Given the description of an element on the screen output the (x, y) to click on. 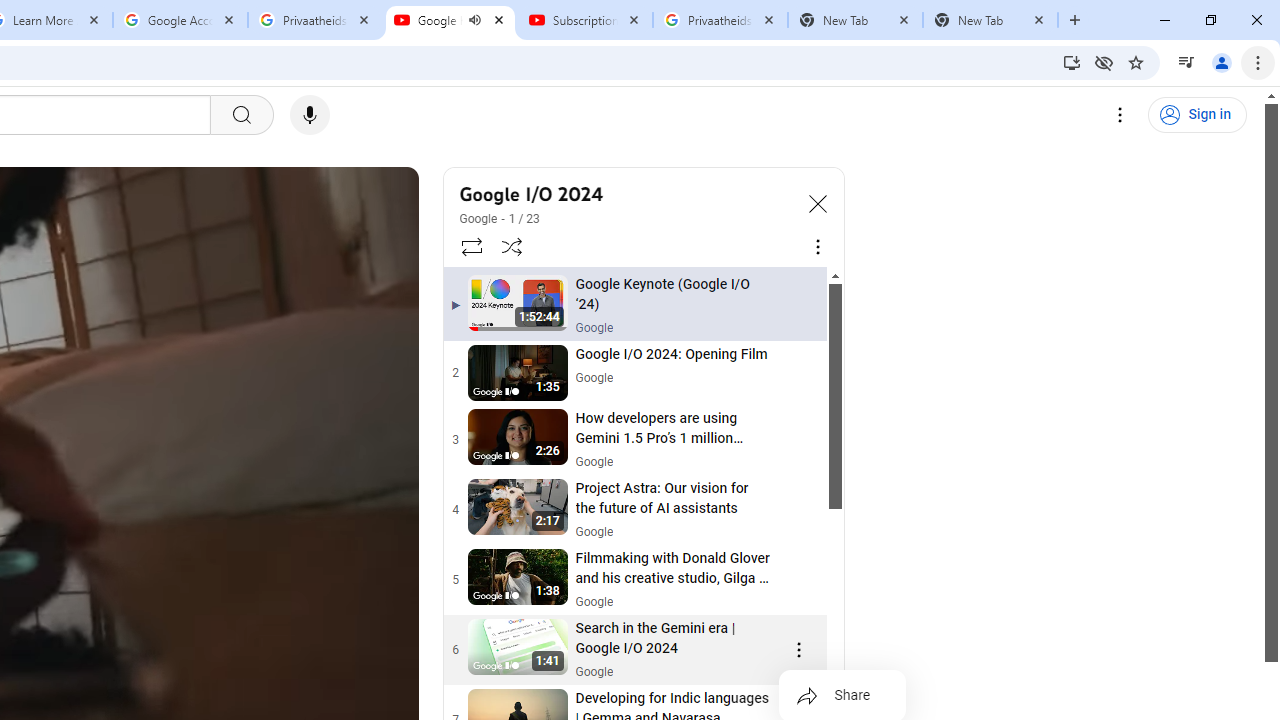
Share (842, 696)
Share (842, 696)
Action menu (798, 650)
Install YouTube (1071, 62)
Google Account (180, 20)
Shuffle playlist (511, 246)
Collapse (817, 202)
Search with your voice (309, 115)
